Given the description of an element on the screen output the (x, y) to click on. 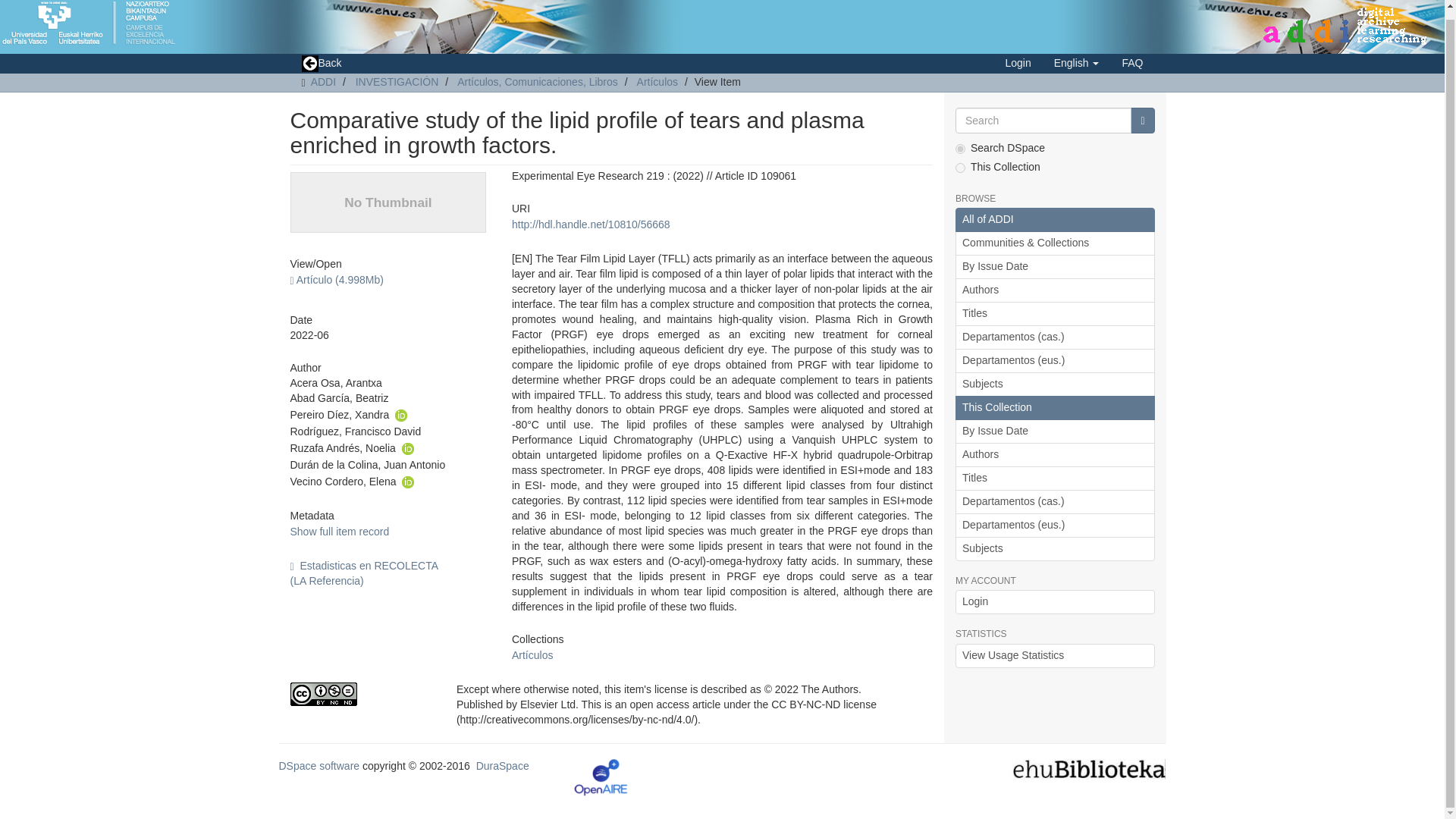
Login (1017, 63)
English  (1076, 63)
ADDI (323, 81)
OpenAIRE (600, 776)
Show full item record (338, 531)
EHU Biblioteka (1088, 767)
FAQ (1131, 63)
Go (1142, 120)
Back (320, 63)
